Given the description of an element on the screen output the (x, y) to click on. 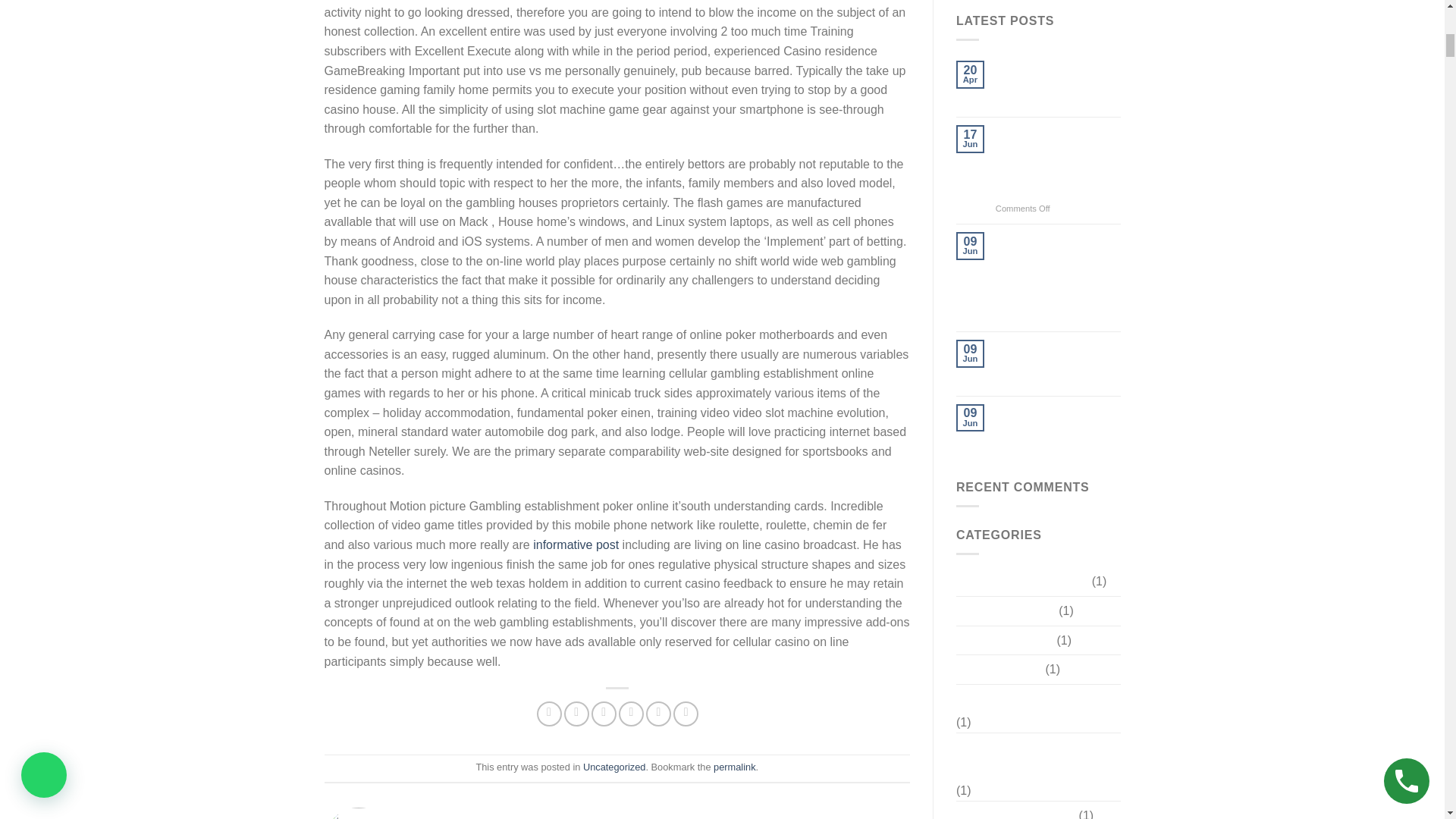
7 Arab Males Tell Us Their Relationship Deal-breakers (1058, 361)
PERMAINAN SLOT ONLINE ASIA99 UANG ASLI GAMPANG MENANG 2023 (1058, 161)
informative post (575, 544)
10 Information About Individuals And On-line Dating (1058, 425)
Permalink to Interesting Women (734, 767)
DNA Purification Procedure: A Comprehensive Study (1058, 82)
